Given the description of an element on the screen output the (x, y) to click on. 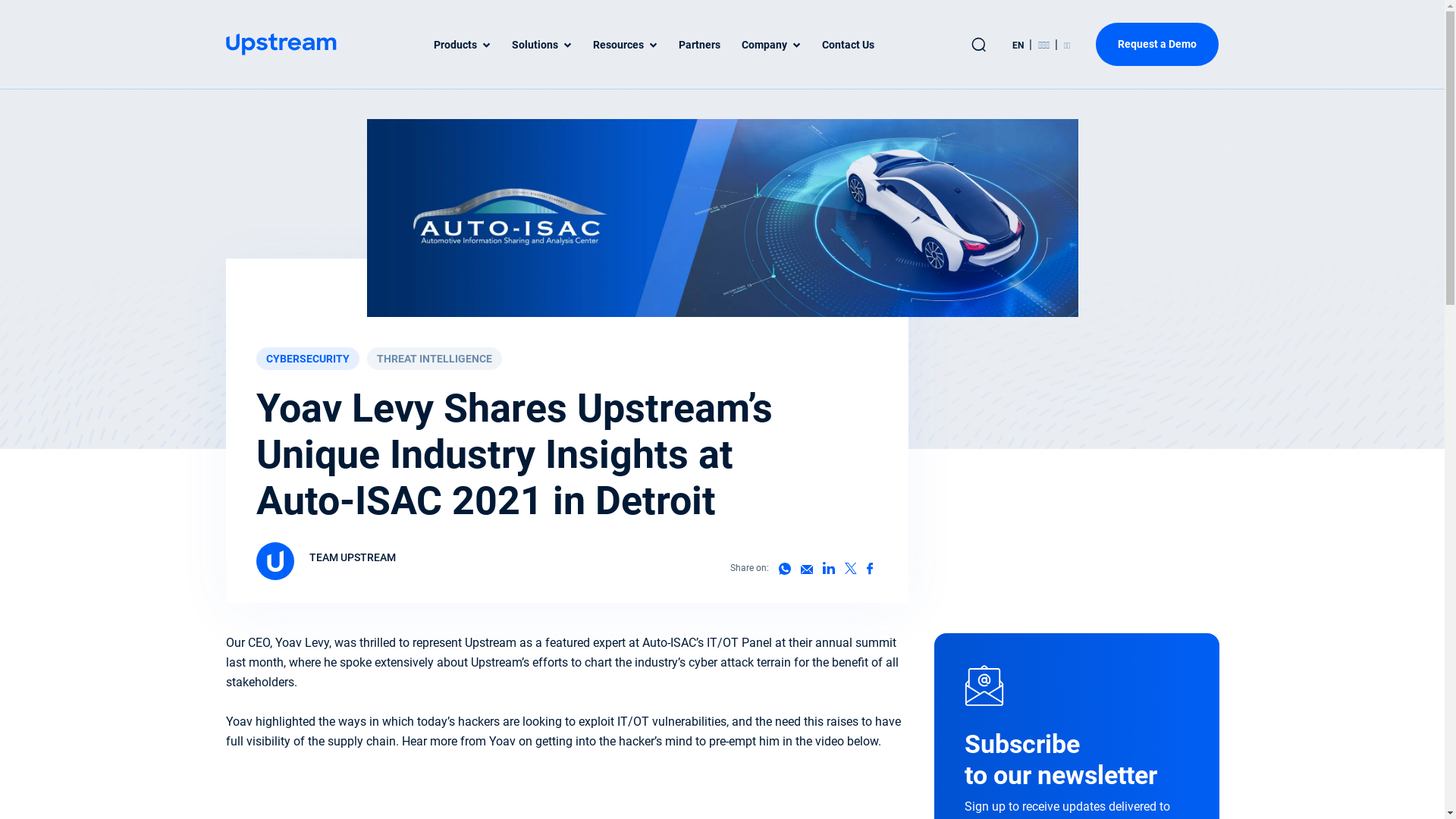
Resources Element type: text (625, 43)
Solutions Element type: text (541, 43)
Products Element type: text (461, 43)
EN Element type: text (1019, 44)
Skip to content Element type: text (1443, 0)
CYBERSECURITY Element type: text (307, 358)
THREAT INTELLIGENCE Element type: text (434, 358)
Partners Element type: text (699, 43)
Company Element type: text (770, 43)
Contact Us Element type: text (848, 43)
Request a Demo Element type: text (1156, 43)
